Given the description of an element on the screen output the (x, y) to click on. 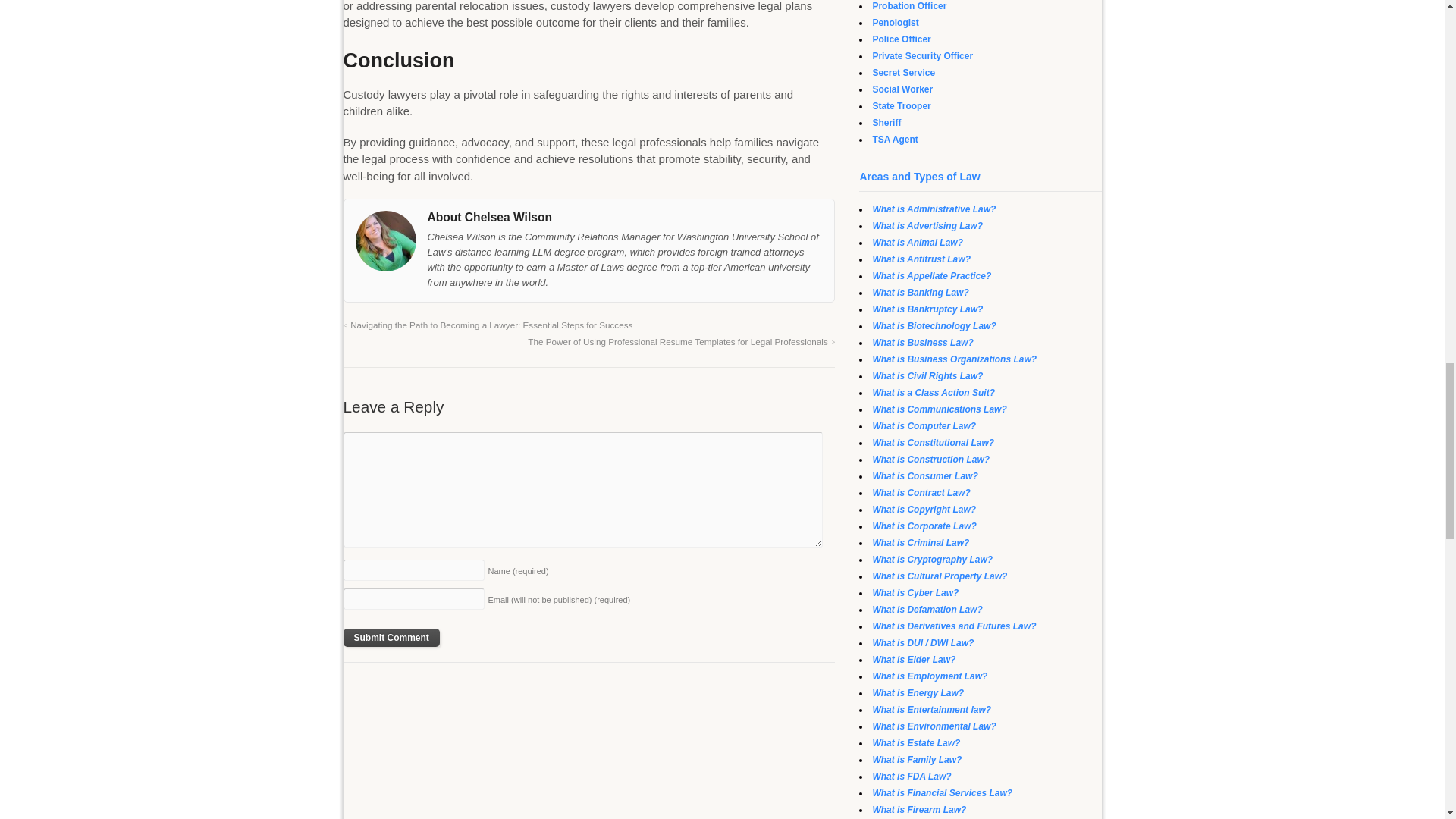
Submit Comment (390, 637)
Submit Comment (390, 637)
